Given the description of an element on the screen output the (x, y) to click on. 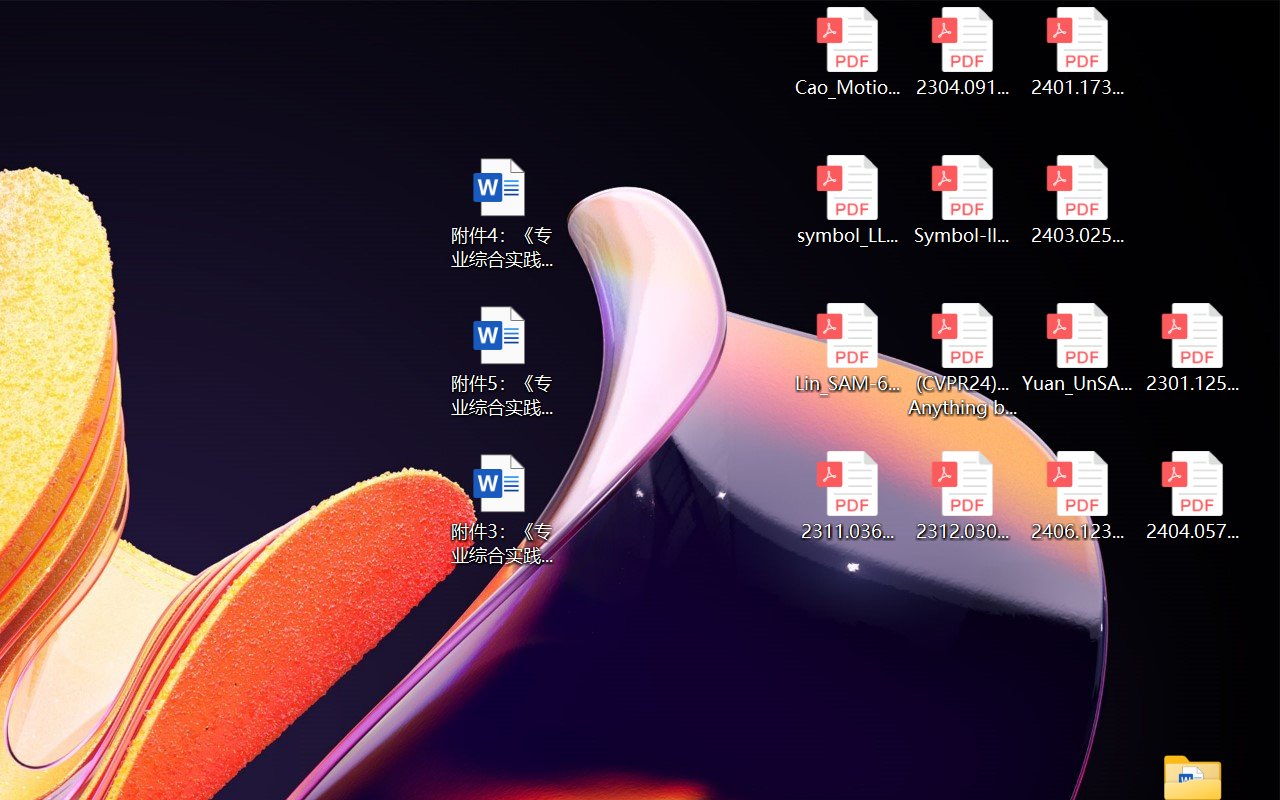
2311.03658v2.pdf (846, 496)
(CVPR24)Matching Anything by Segmenting Anything.pdf (962, 360)
symbol_LLM.pdf (846, 200)
2301.12597v3.pdf (1192, 348)
2304.09121v3.pdf (962, 52)
Symbol-llm-v2.pdf (962, 200)
2403.02502v1.pdf (1077, 200)
2312.03032v2.pdf (962, 496)
2401.17399v1.pdf (1077, 52)
2404.05719v1.pdf (1192, 496)
2406.12373v2.pdf (1077, 496)
